Given the description of an element on the screen output the (x, y) to click on. 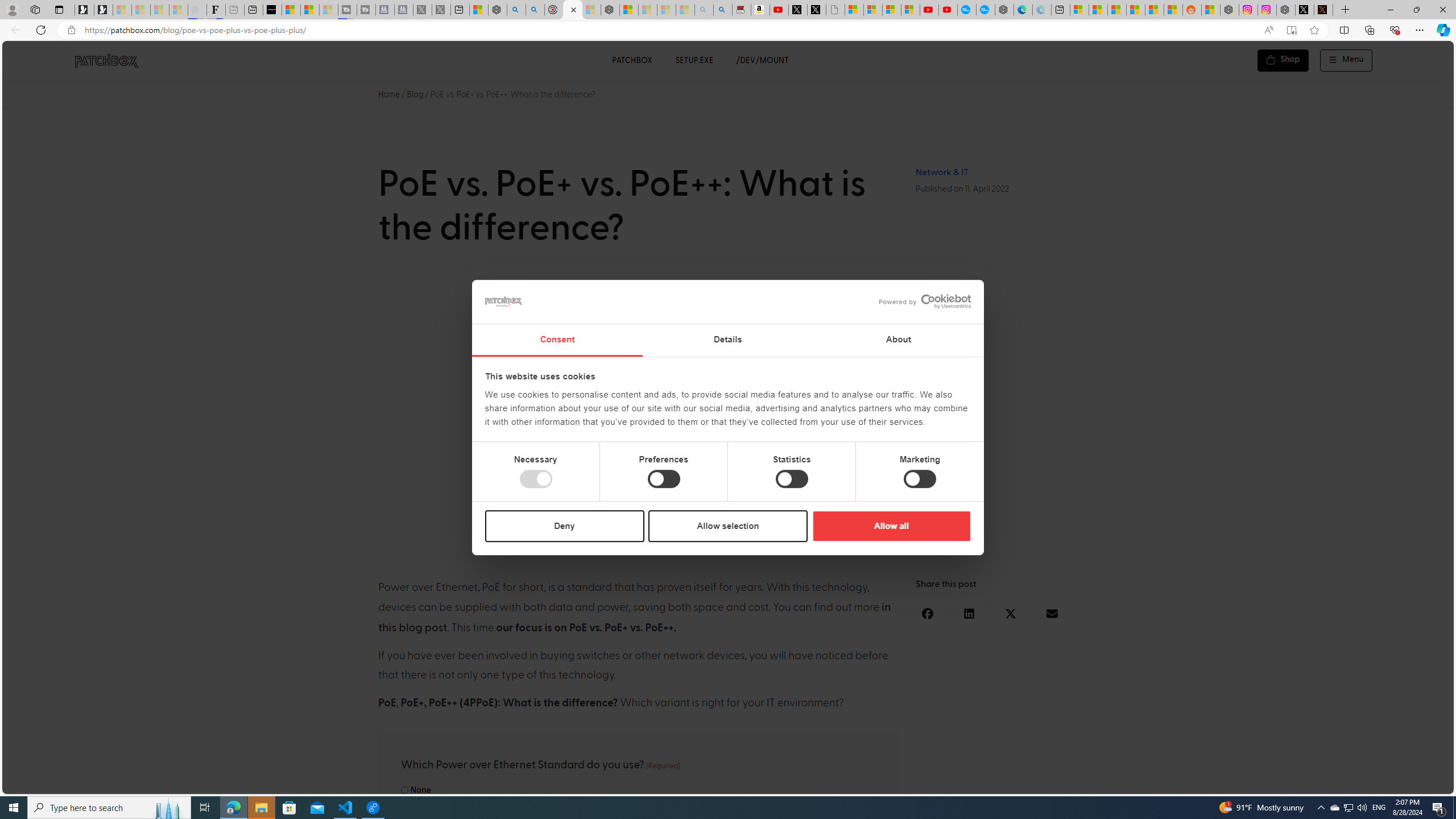
Language switcher : Greek (1380, 782)
